Given the description of an element on the screen output the (x, y) to click on. 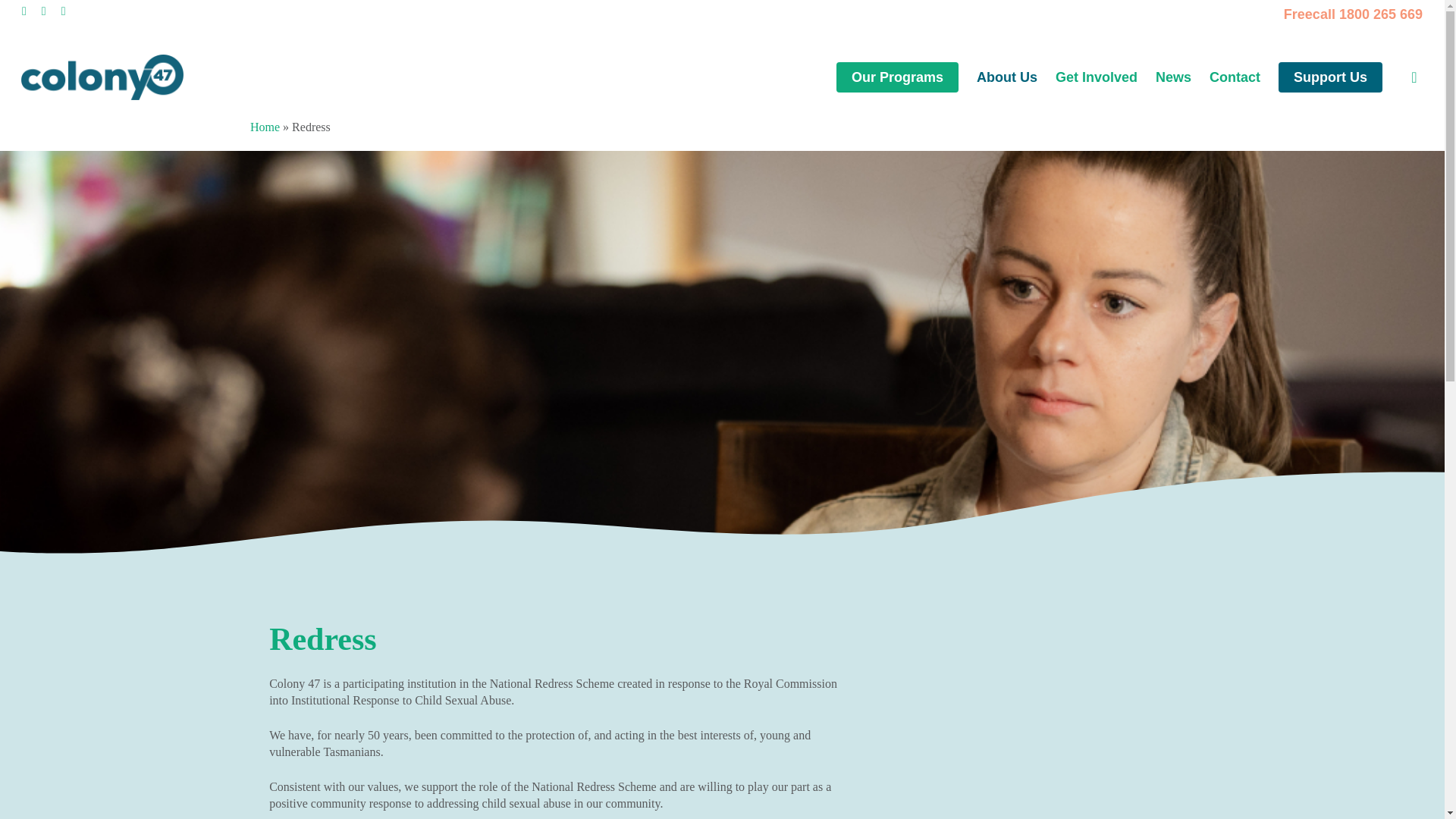
Get Involved (1096, 77)
Freecall 1800 265 669 (1353, 14)
Our Programs (896, 77)
News (1173, 77)
About Us (1007, 77)
